Given the description of an element on the screen output the (x, y) to click on. 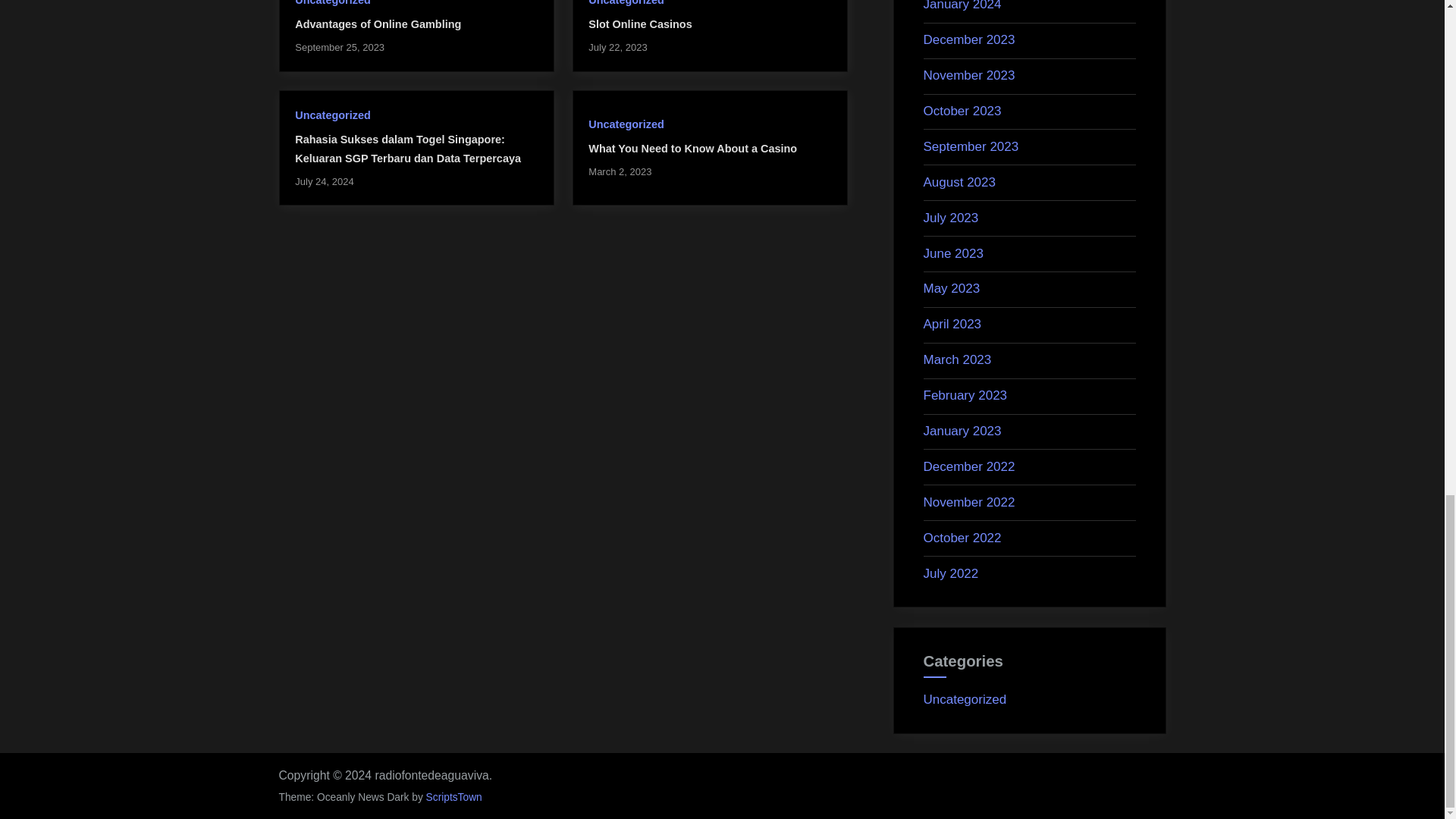
October 2023 (962, 110)
December 2023 (968, 39)
Uncategorized (625, 2)
Uncategorized (332, 114)
Uncategorized (625, 123)
November 2023 (968, 74)
Uncategorized (332, 2)
January 2024 (962, 5)
What You Need to Know About a Casino (692, 148)
